Given the description of an element on the screen output the (x, y) to click on. 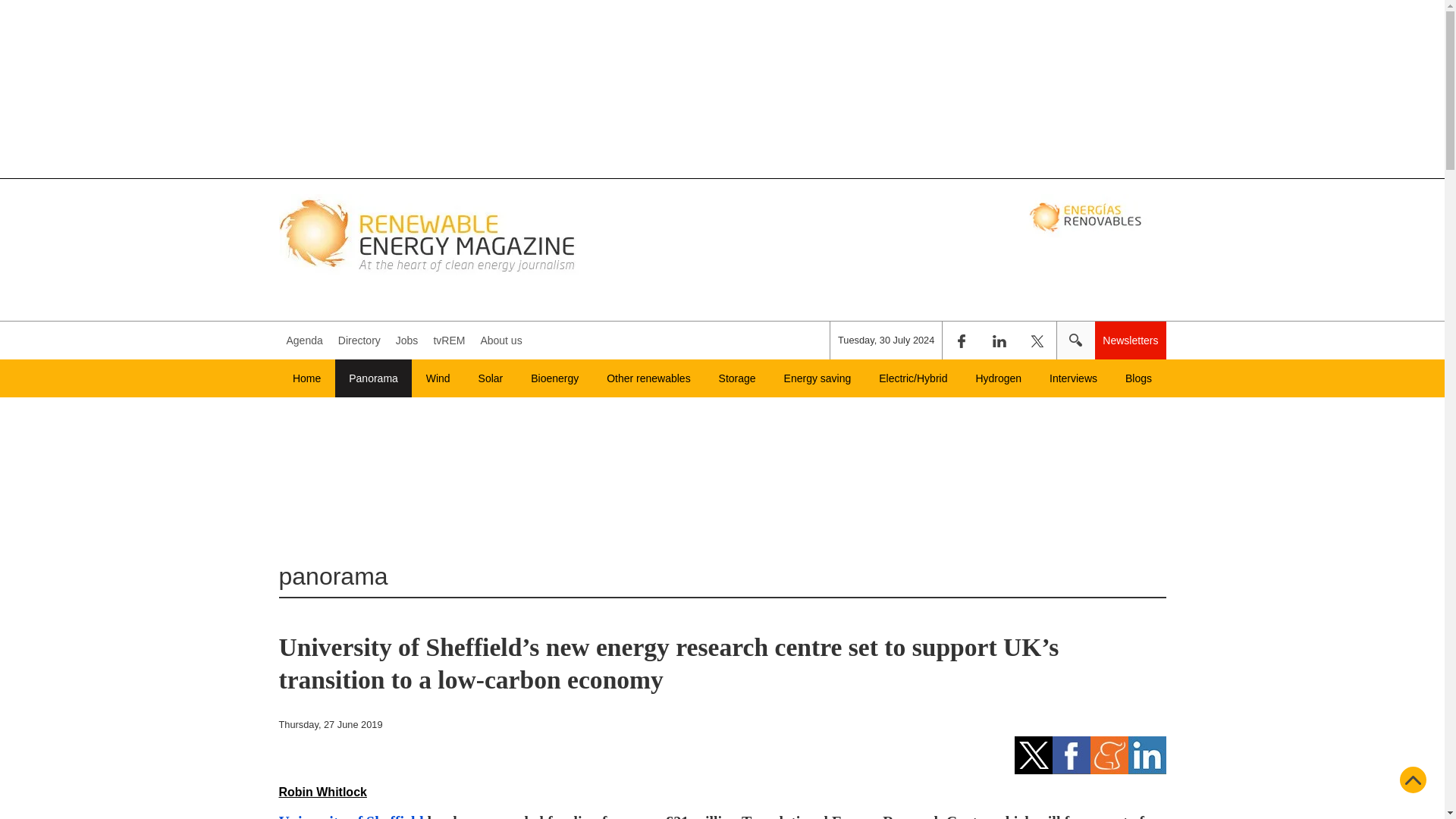
Go to Agenda (304, 340)
Directory (359, 340)
Hydrogen (997, 378)
Interviews (1073, 378)
Jobs (407, 340)
Newsletters (1130, 340)
Go to Newsletters (1130, 340)
Go to About us (500, 340)
Go to Solar (490, 378)
Storage (737, 378)
